Given the description of an element on the screen output the (x, y) to click on. 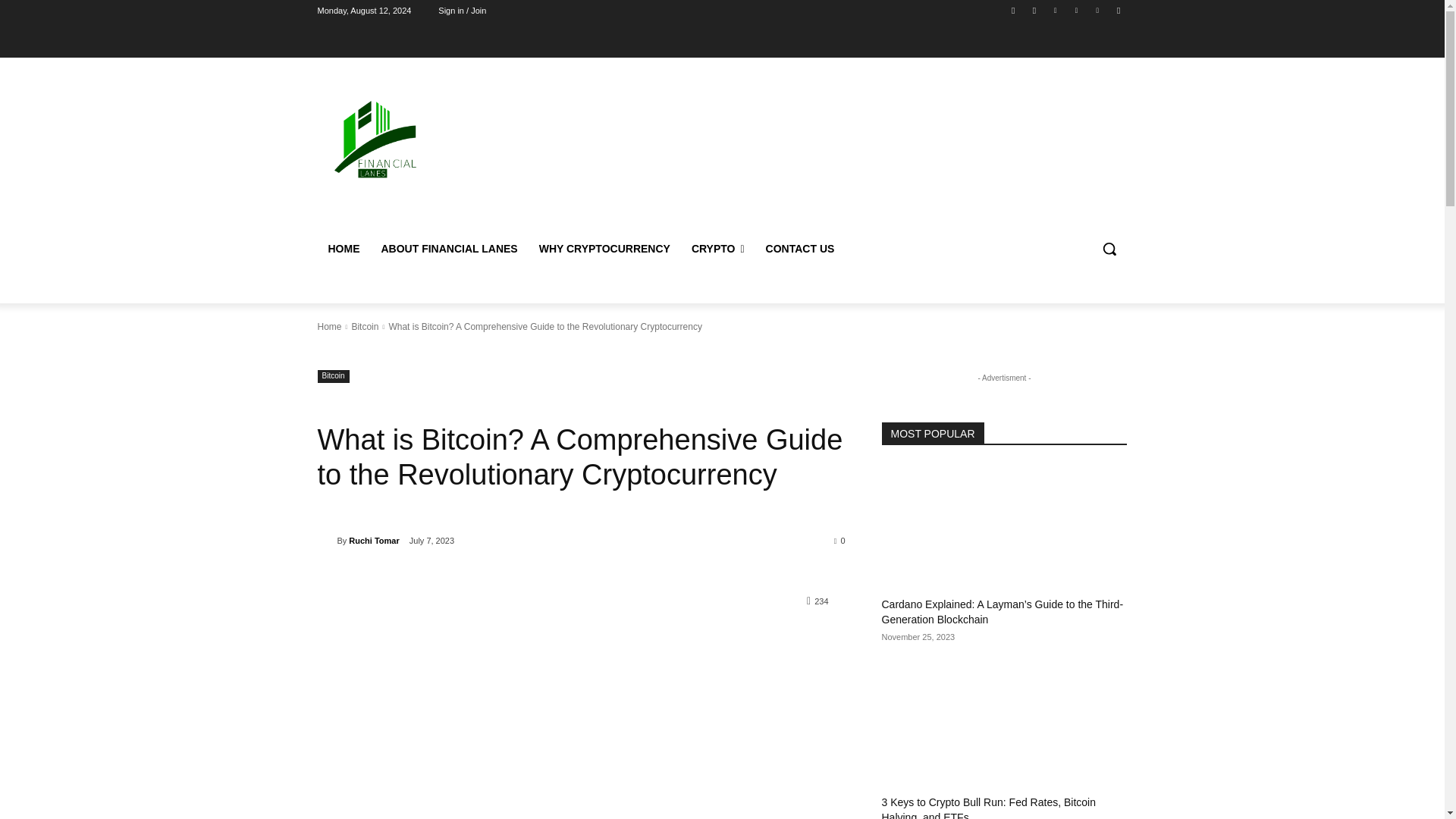
Twitter (1097, 9)
Youtube (1117, 9)
Linkedin (1055, 9)
Instagram (1034, 9)
Facebook (1013, 9)
Pinterest (1075, 9)
View all posts in Bitcoin (364, 326)
